Given the description of an element on the screen output the (x, y) to click on. 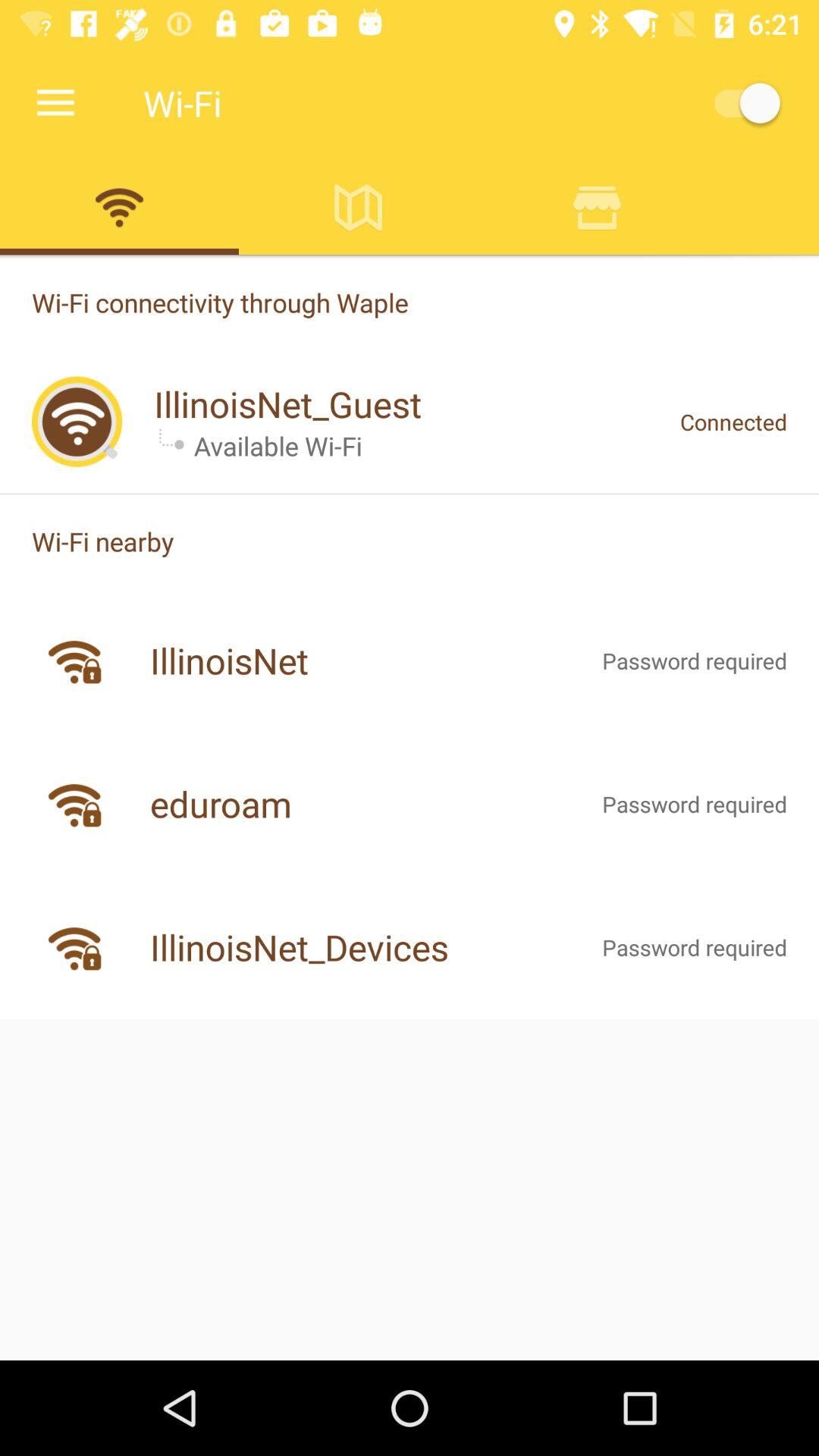
toggle wi-fi on/off (739, 103)
